Given the description of an element on the screen output the (x, y) to click on. 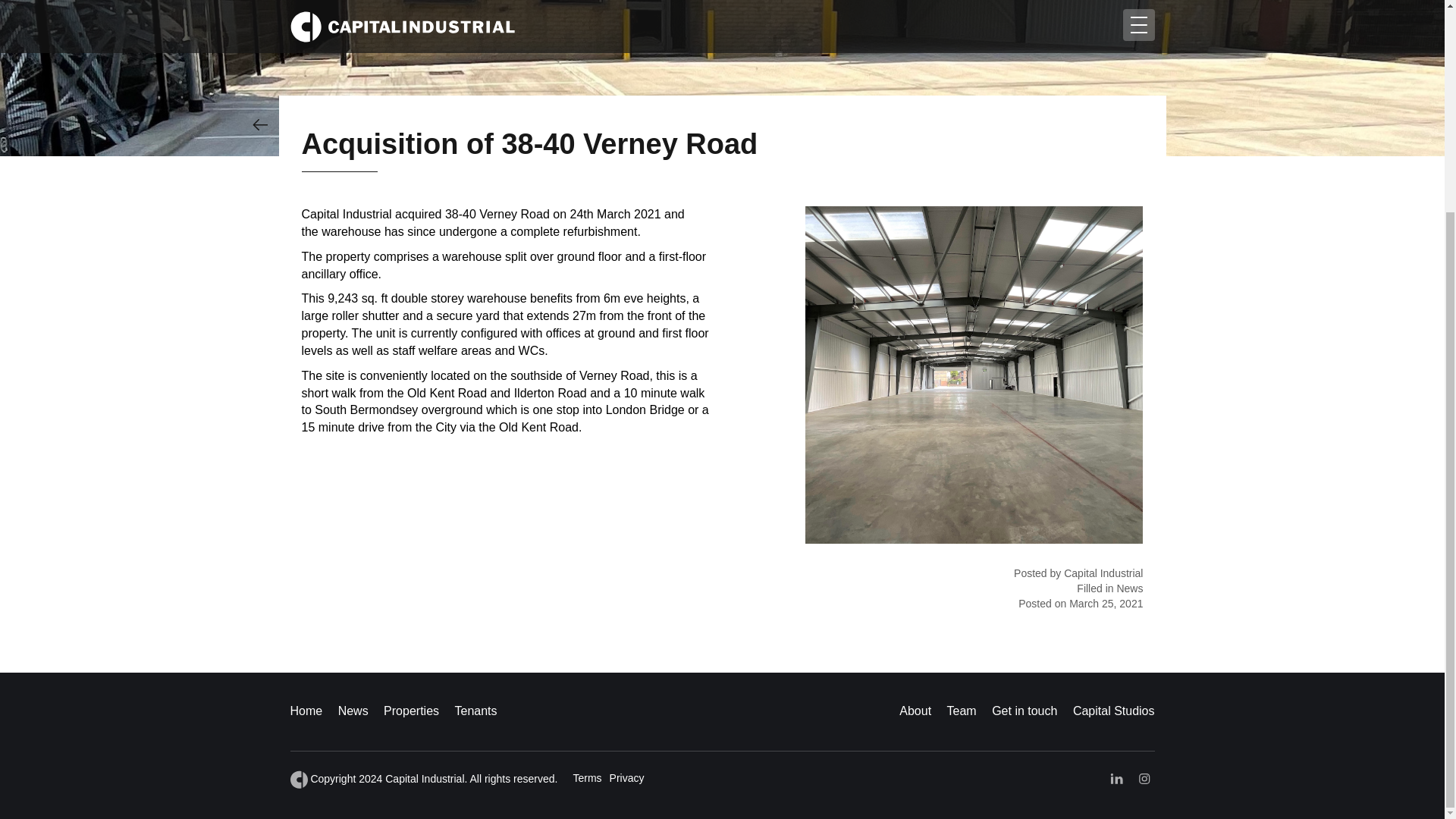
About (915, 710)
Terms (586, 777)
Capital Studios (1113, 710)
Properties (411, 710)
News (352, 710)
Home (305, 710)
Tenants (475, 710)
Get in touch (1024, 710)
Back to News (258, 123)
Team (961, 710)
